Given the description of an element on the screen output the (x, y) to click on. 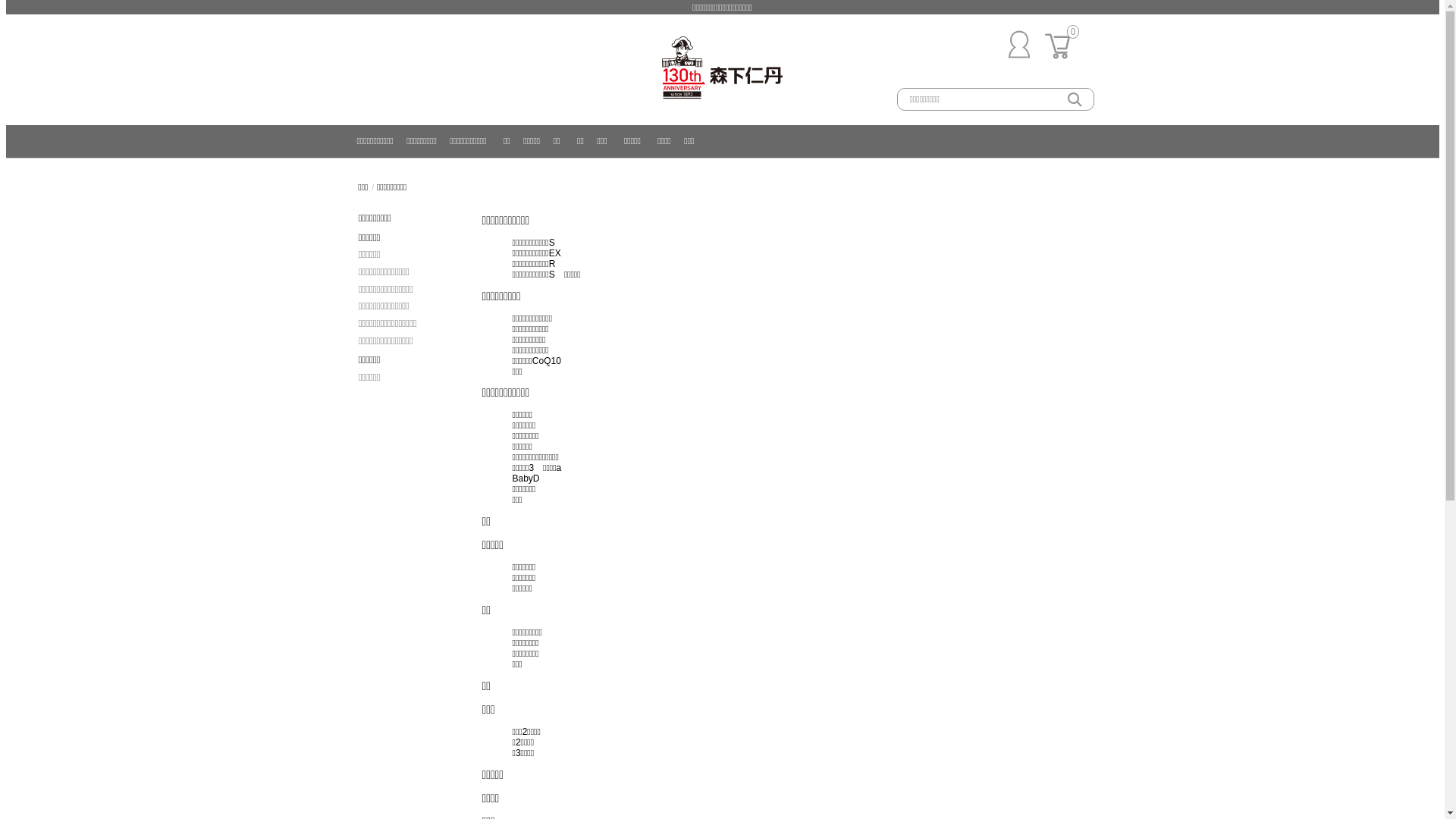
BabyD Element type: text (525, 478)
0 Element type: text (1061, 61)
